Given the description of an element on the screen output the (x, y) to click on. 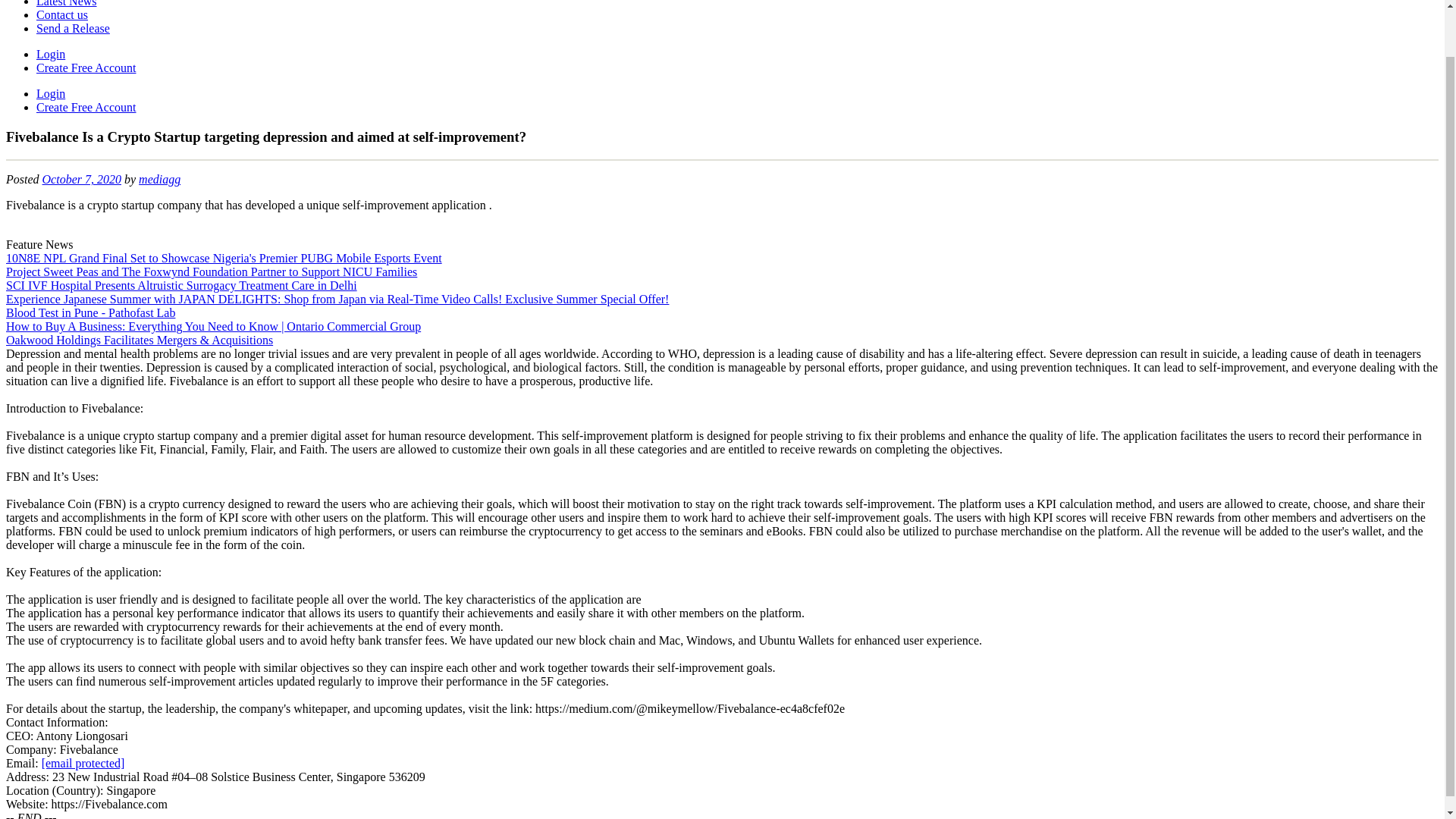
Login (50, 53)
Send a Release (73, 28)
Latest News (66, 3)
Contact us (61, 14)
Login (50, 92)
Create Free Account (86, 106)
Create Free Account (86, 67)
mediagg (159, 178)
Blood Test in Pune - Pathofast Lab (89, 312)
October 7, 2020 (81, 178)
